Given the description of an element on the screen output the (x, y) to click on. 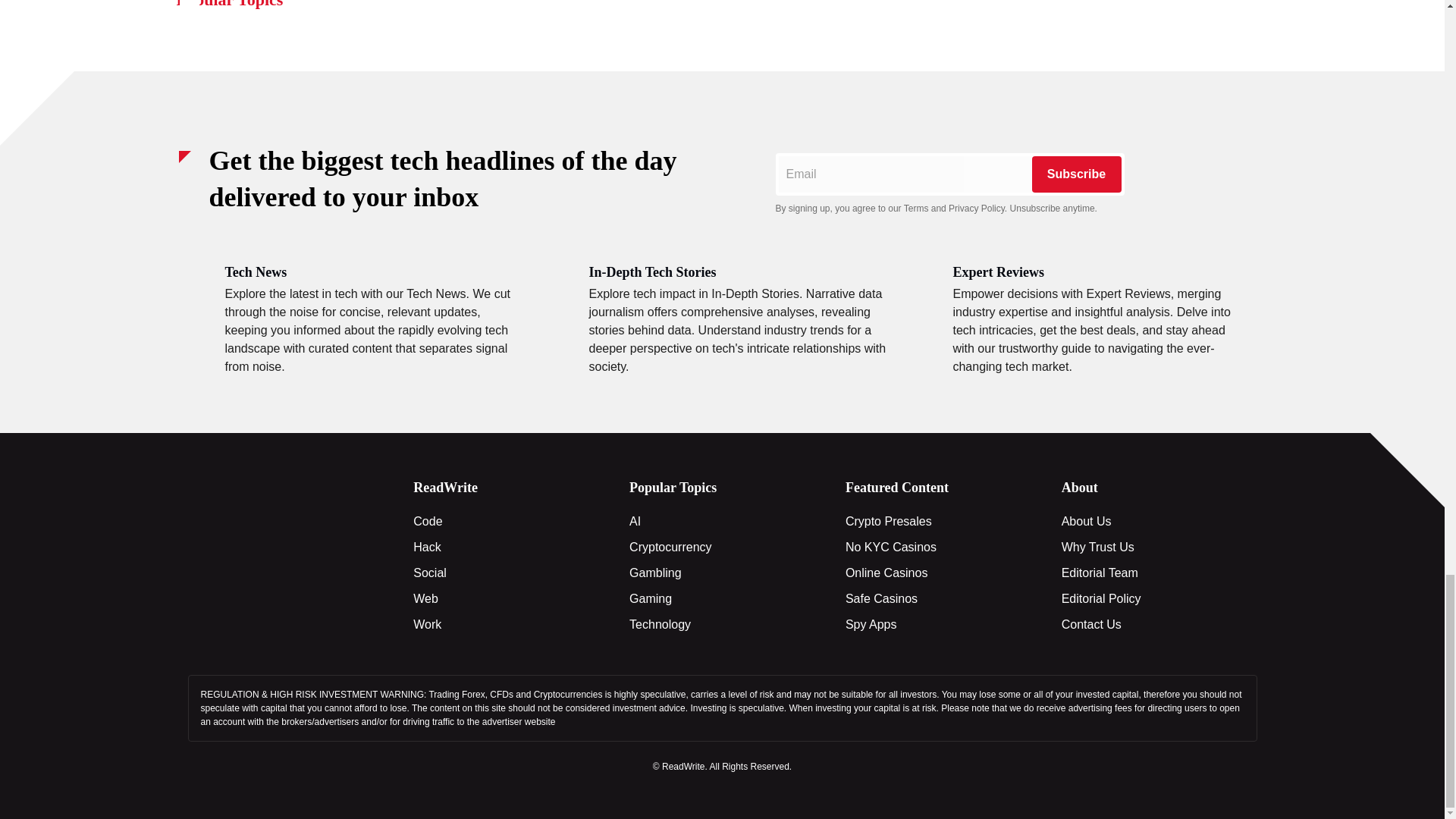
Subscribe (1075, 174)
